Given the description of an element on the screen output the (x, y) to click on. 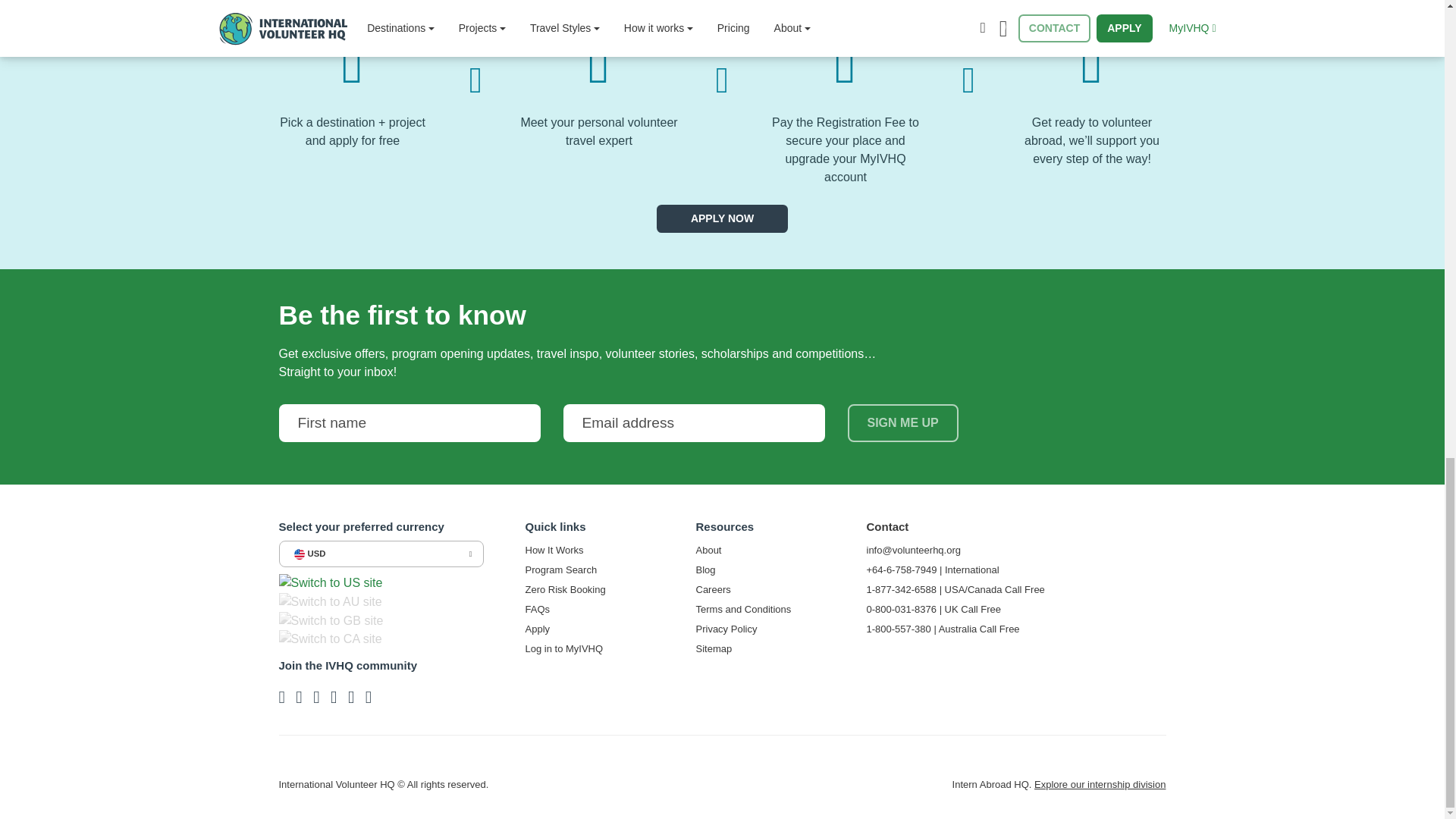
First name (409, 423)
Email (693, 423)
Customer reviews powered by Trustpilot (720, 786)
